Given the description of an element on the screen output the (x, y) to click on. 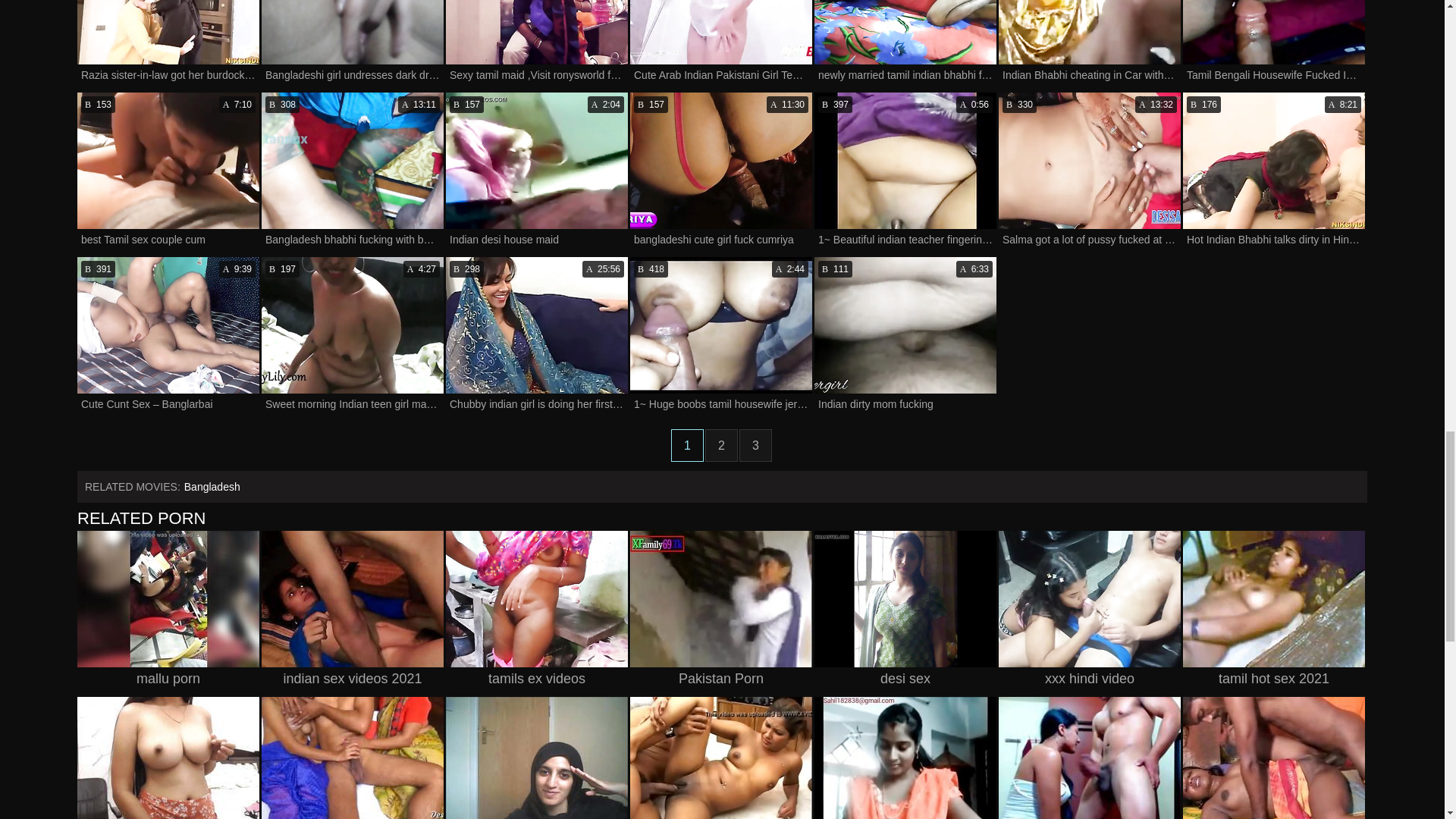
Bangladesh (212, 486)
